Given the description of an element on the screen output the (x, y) to click on. 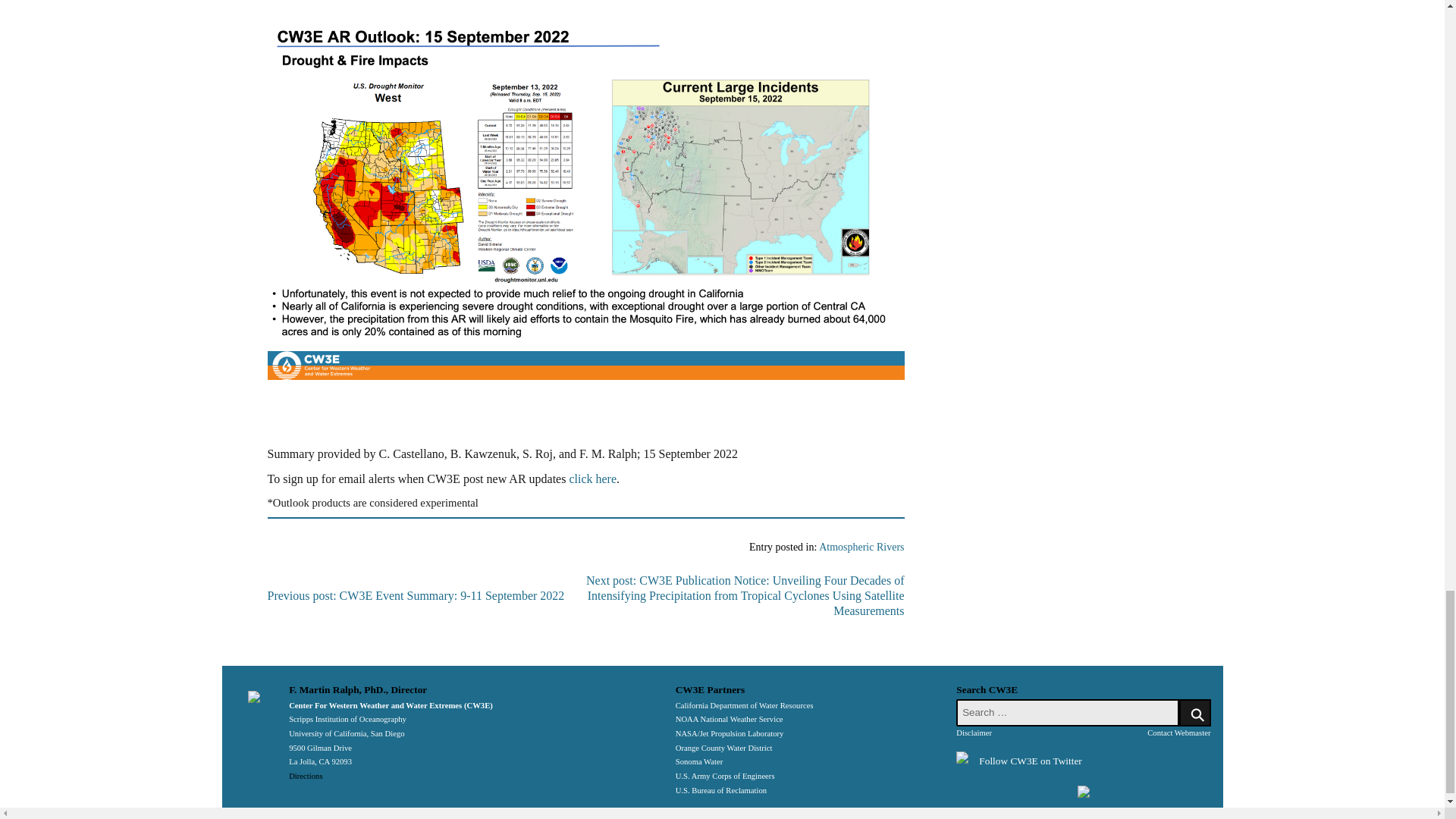
Previous post: CW3E Event Summary: 9-11 September 2022 (415, 594)
